Given the description of an element on the screen output the (x, y) to click on. 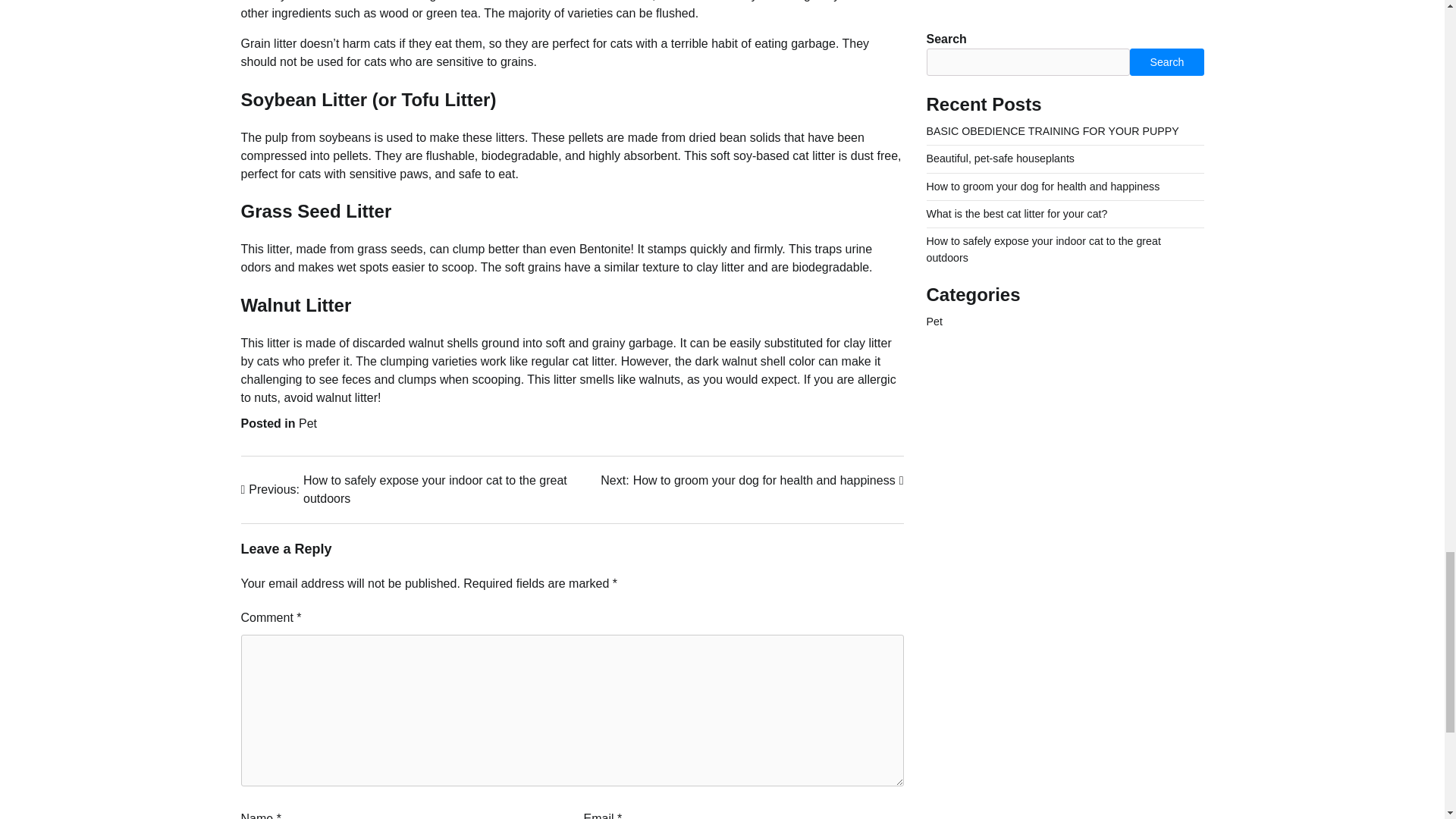
Pet (307, 422)
